Given the description of an element on the screen output the (x, y) to click on. 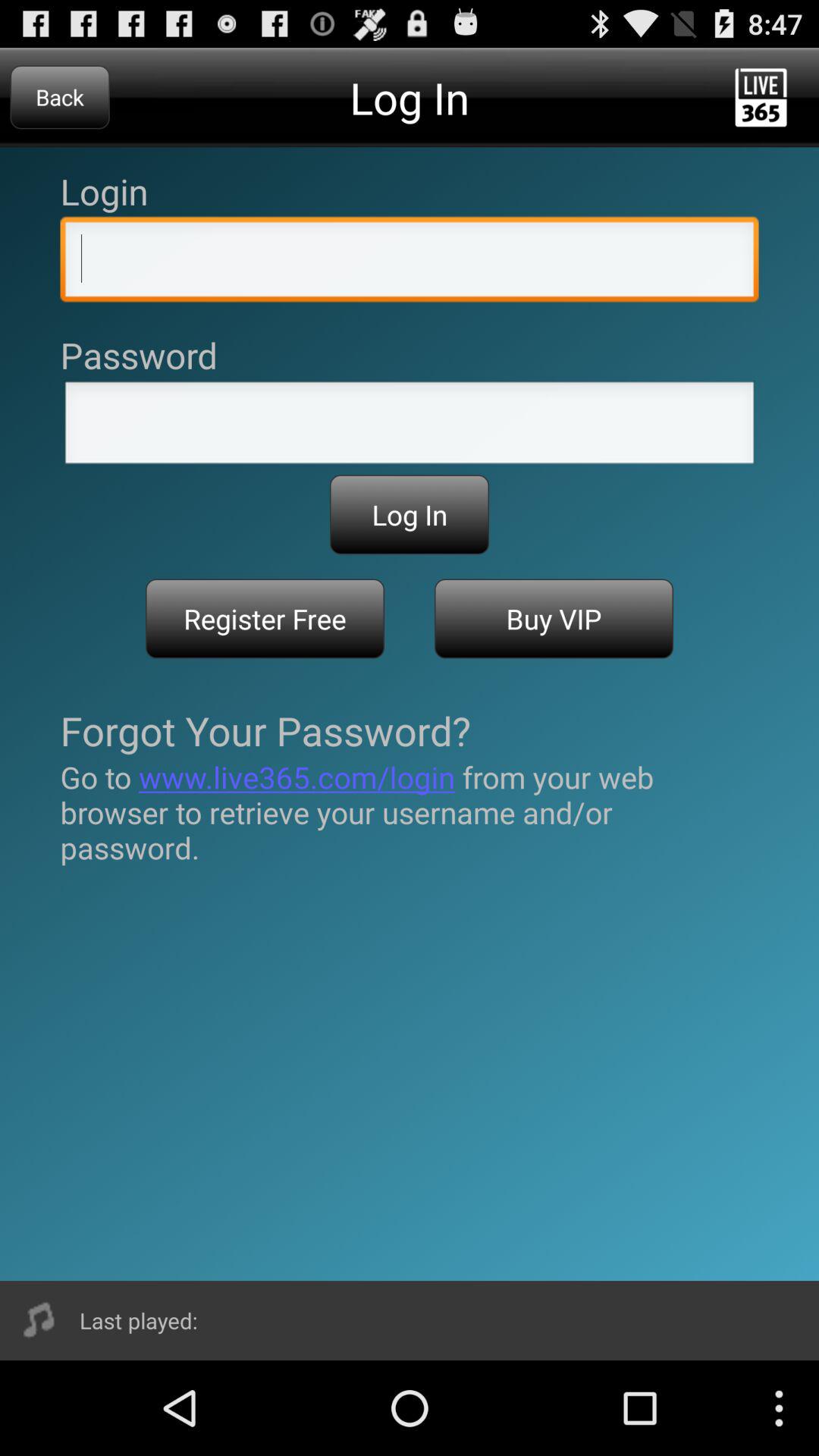
turn on the icon below the log in (264, 618)
